Given the description of an element on the screen output the (x, y) to click on. 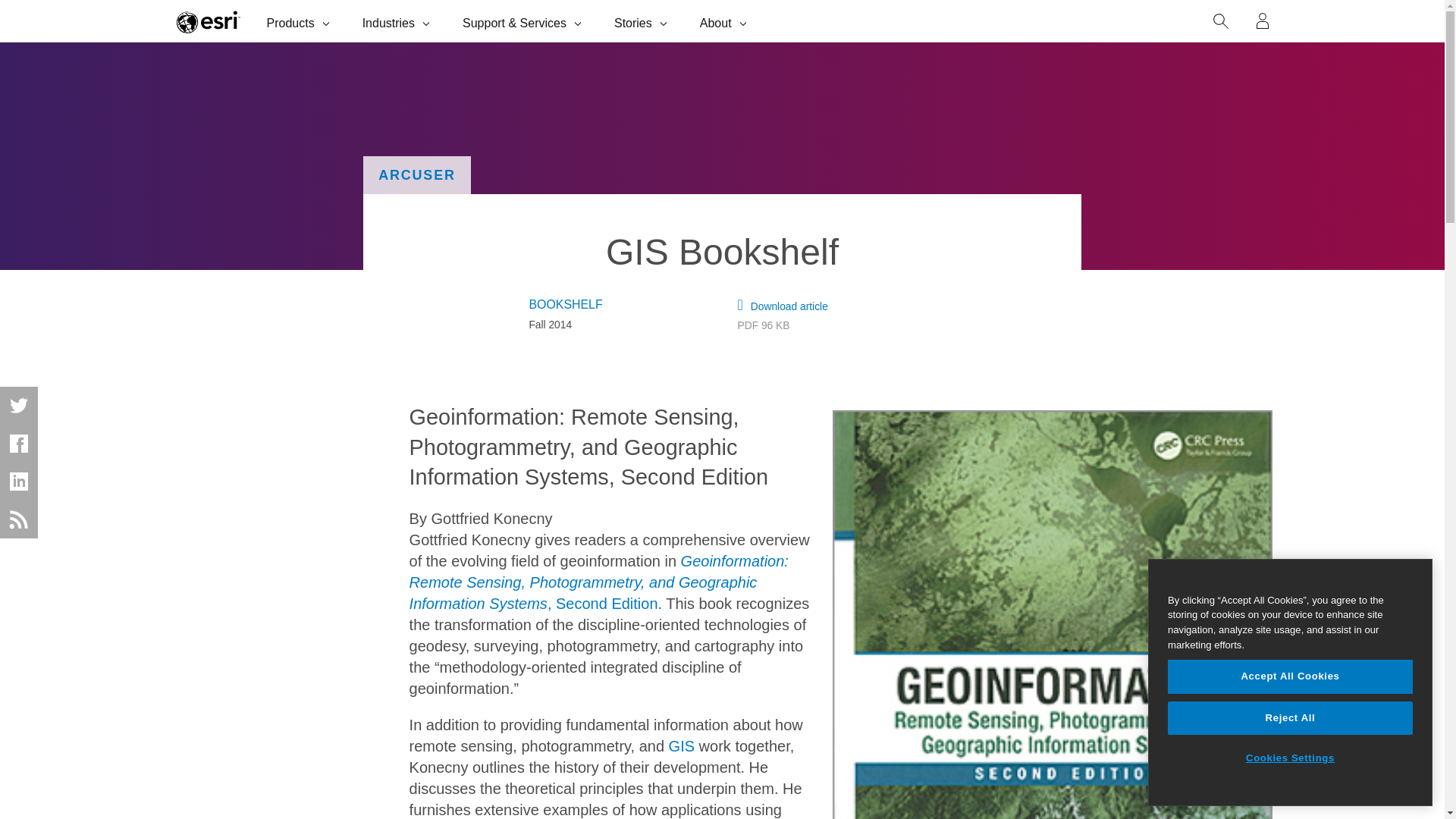
Products (299, 20)
Industries (396, 20)
Esri home page (208, 21)
Esri home page (208, 21)
Search (1220, 20)
Esri home page (208, 21)
Sign In (1262, 20)
